Given the description of an element on the screen output the (x, y) to click on. 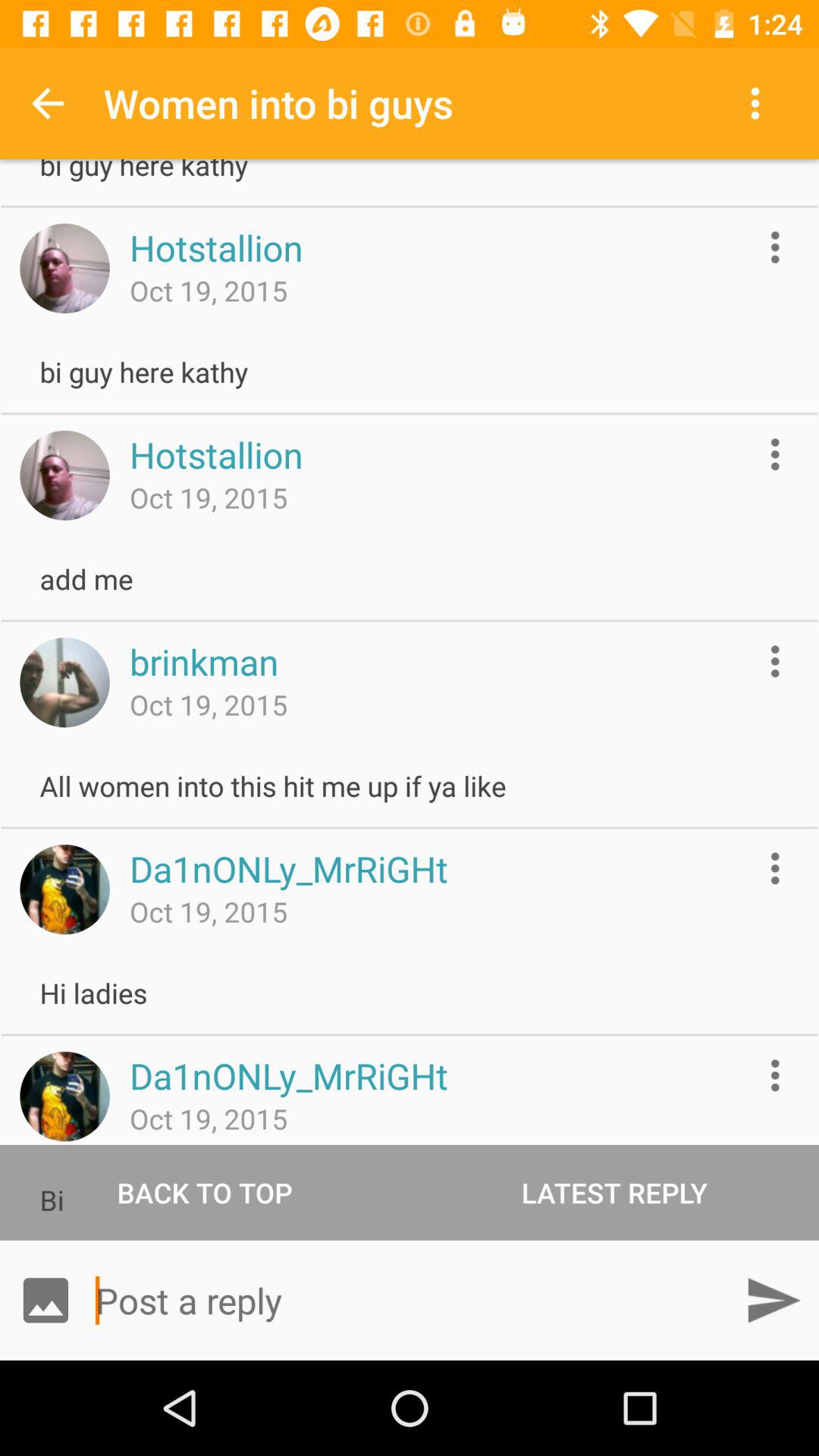
open options (775, 661)
